Given the description of an element on the screen output the (x, y) to click on. 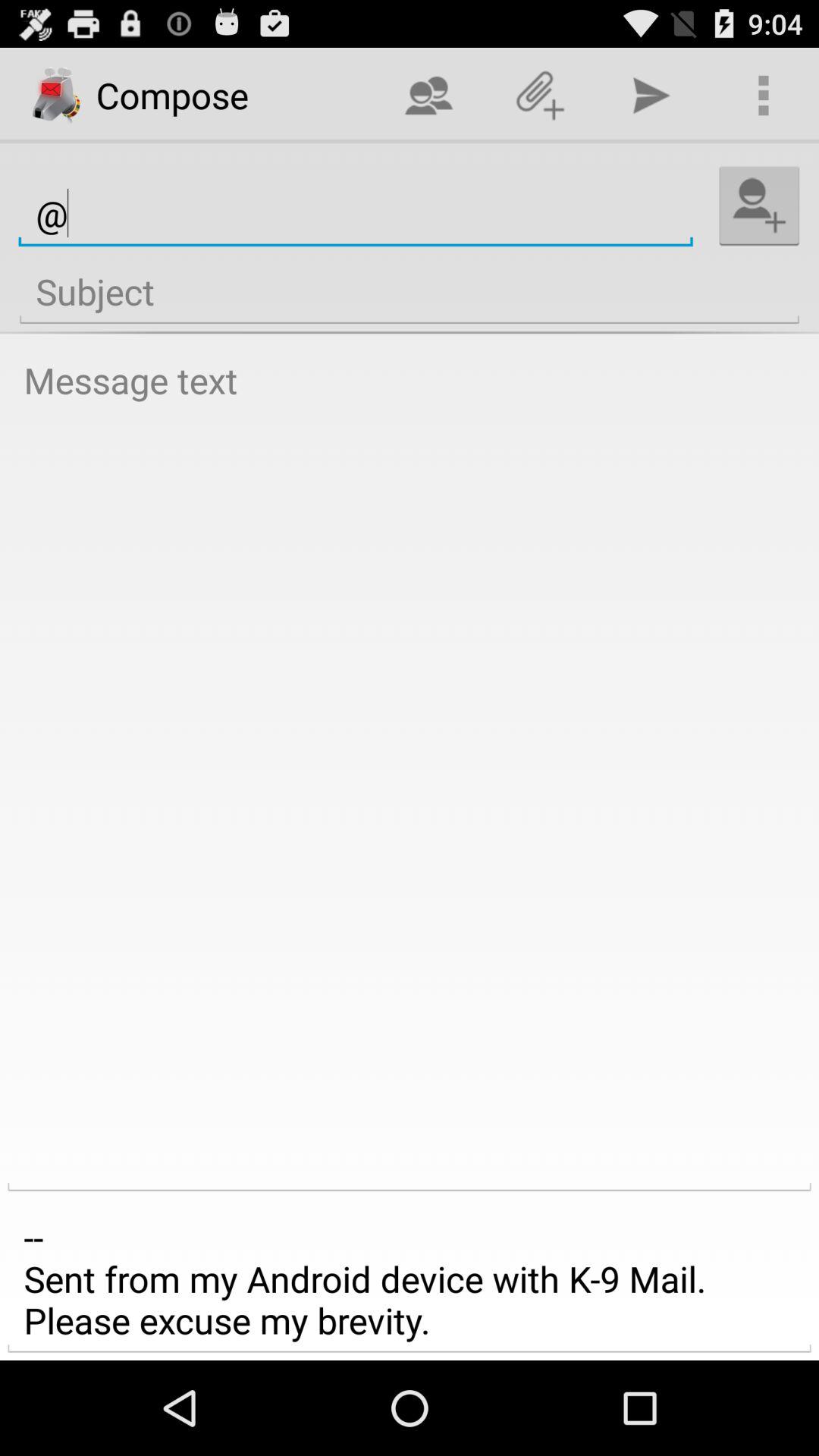
tap the item at the center (409, 769)
